Given the description of an element on the screen output the (x, y) to click on. 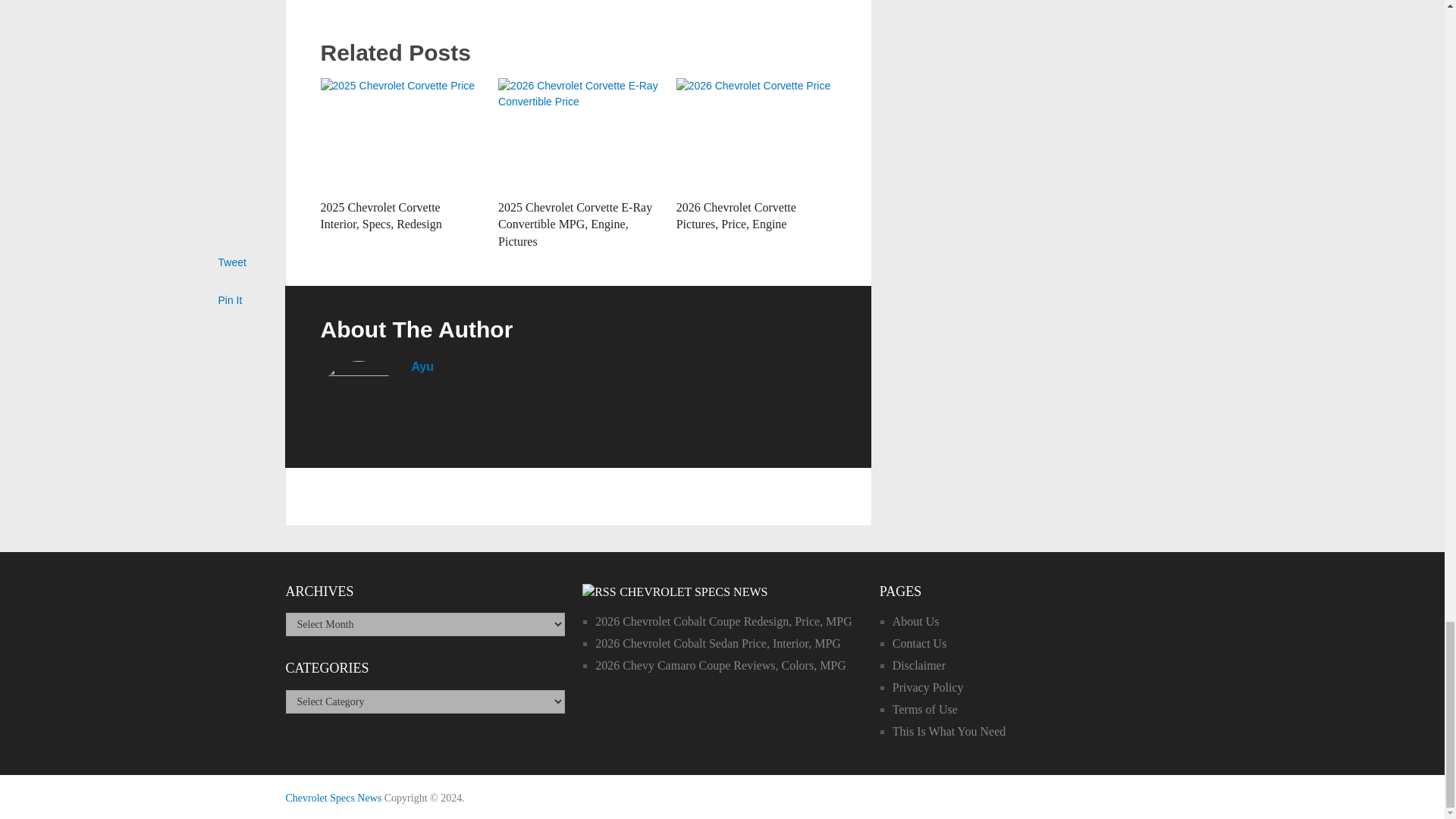
2025 Chevrolet Corvette Interior, Specs, Redesign (380, 215)
2026 Chevrolet Corvette Pictures, Price, Engine (756, 134)
2025 Chevrolet Corvette Interior, Specs, Redesign (400, 134)
2025 Chevrolet Corvette Interior, Specs, Redesign (380, 215)
